Given the description of an element on the screen output the (x, y) to click on. 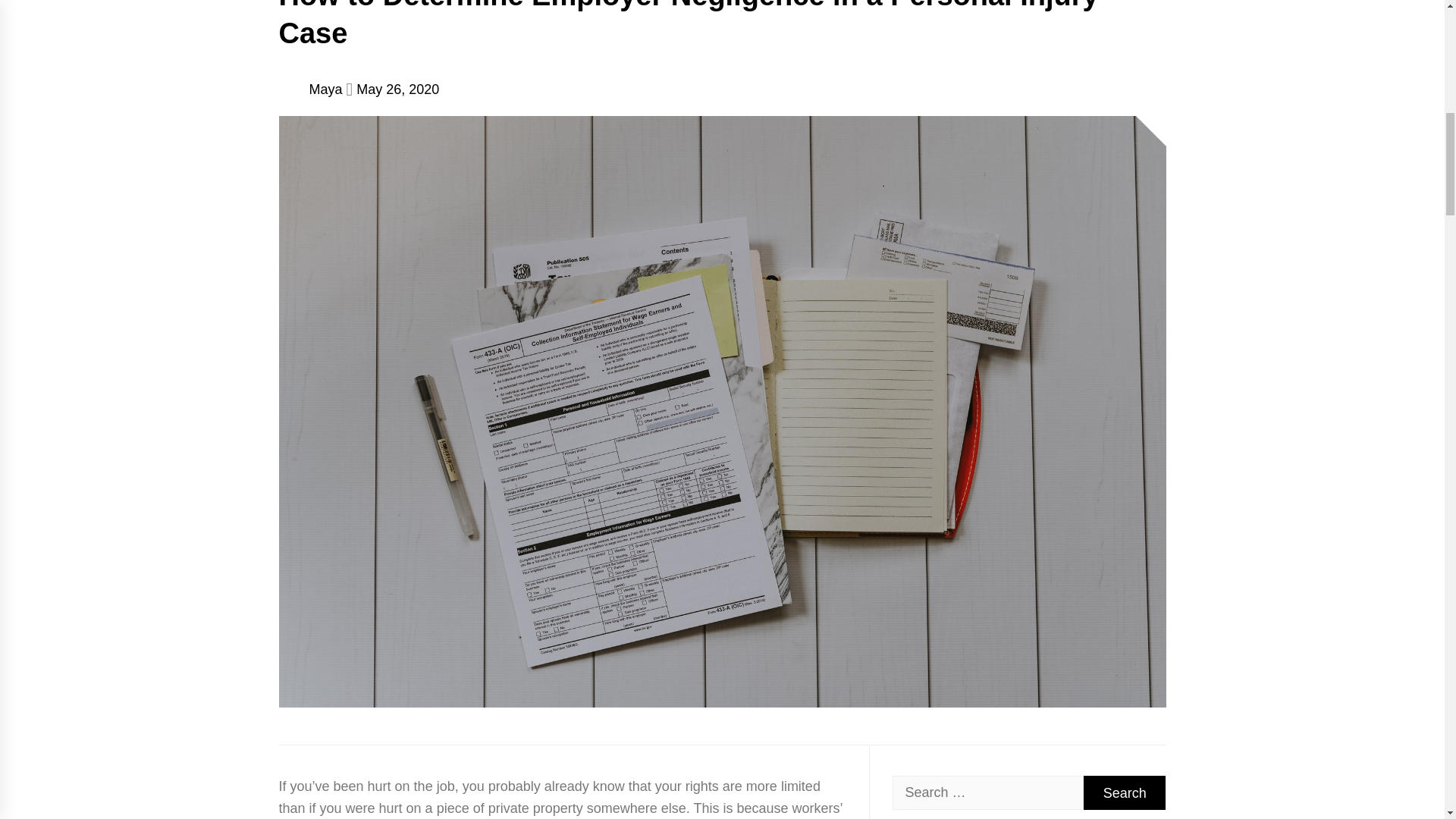
May 26, 2020 (397, 89)
Search (1124, 792)
Maya (325, 89)
Search (1124, 792)
Search (1124, 792)
